Given the description of an element on the screen output the (x, y) to click on. 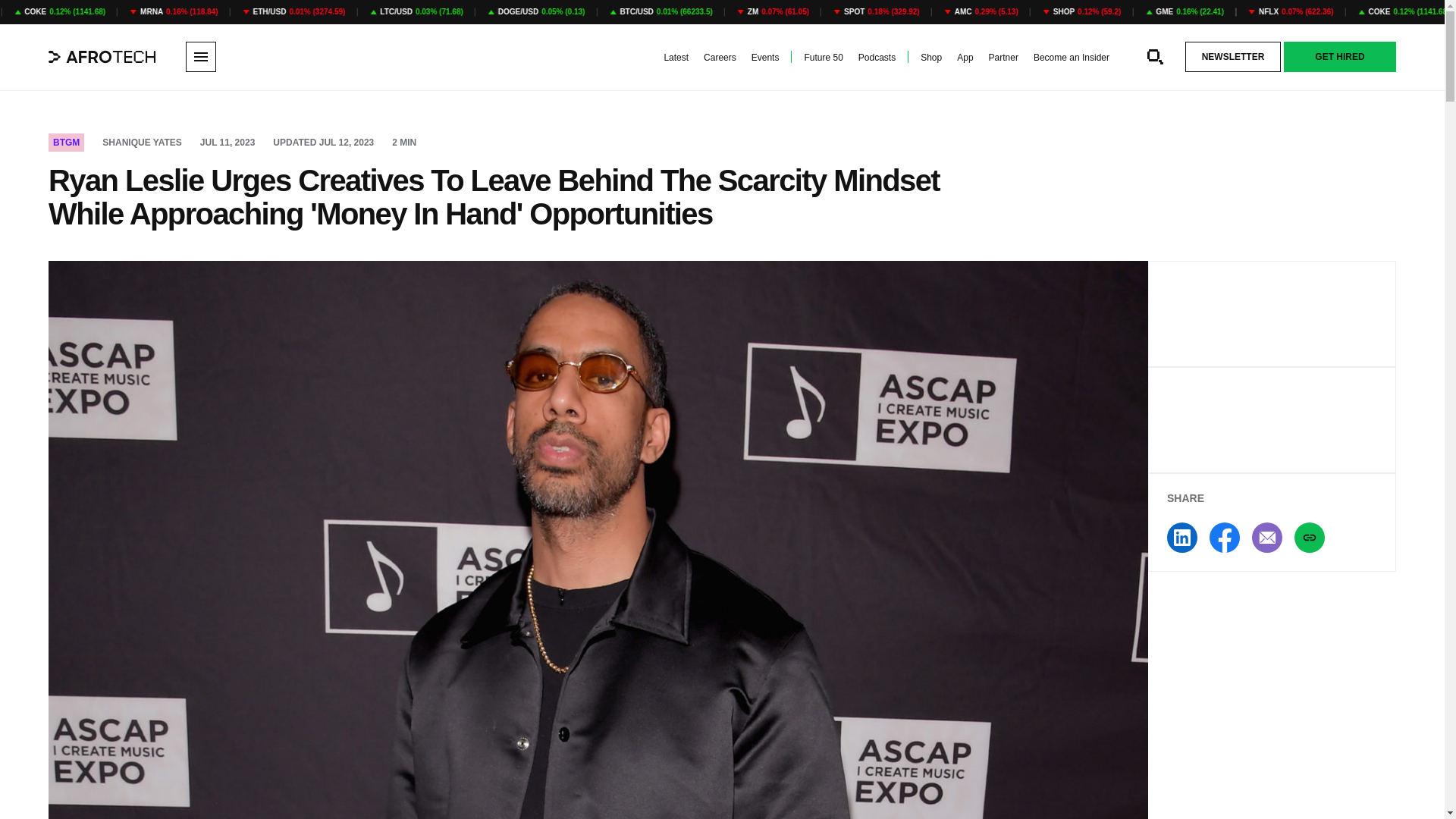
NEWSLETTER (1233, 56)
Future 50 (823, 57)
BTGM (66, 142)
Become an Insider (1071, 57)
Events (764, 57)
Podcasts (877, 57)
GET HIRED (1340, 56)
App (964, 57)
Latest (675, 57)
Partner (1002, 57)
SHANIQUE YATES (140, 142)
Careers (719, 57)
Shop (931, 57)
